Given the description of an element on the screen output the (x, y) to click on. 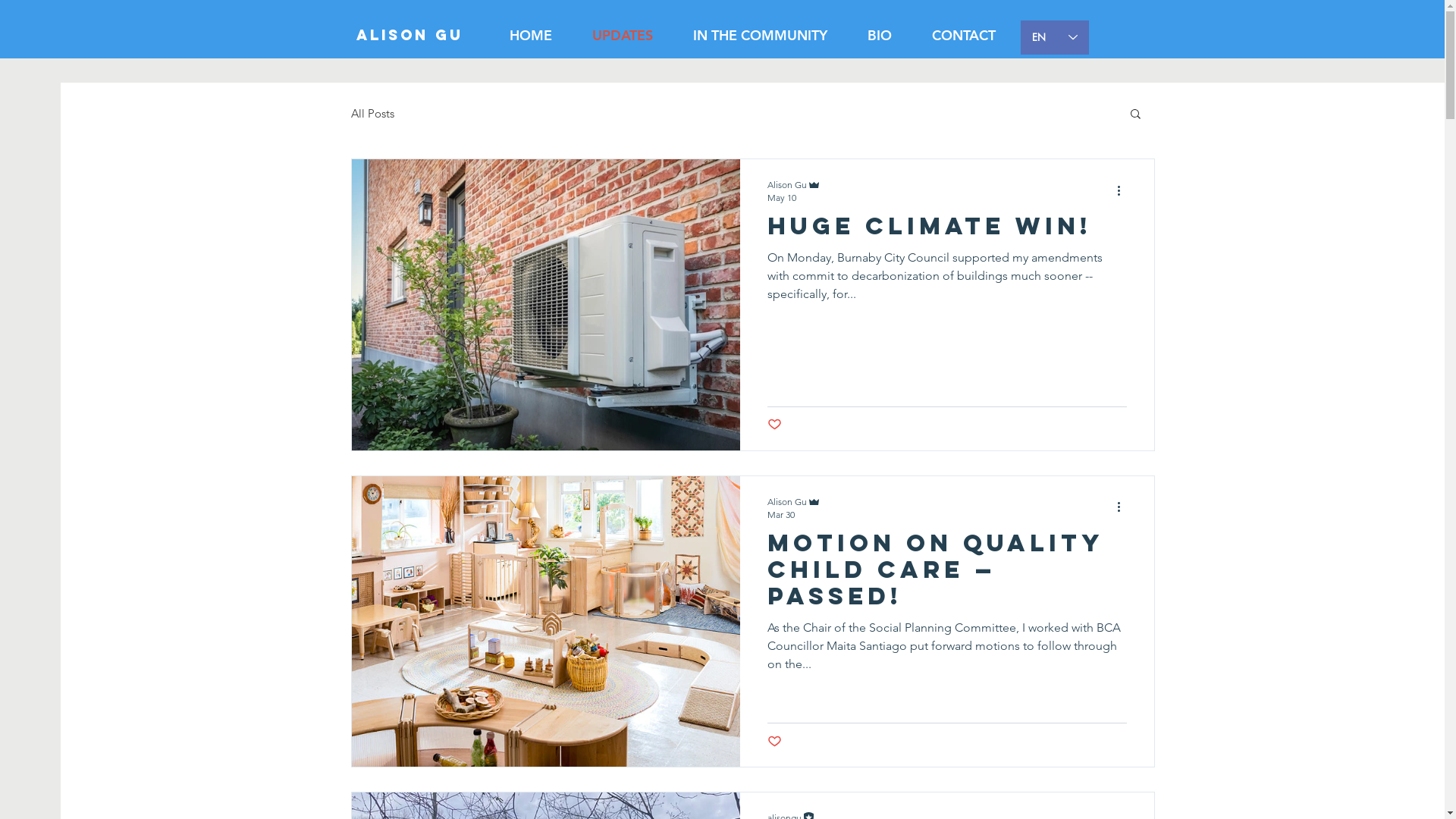
Post not marked as liked Element type: text (774, 425)
HOME Element type: text (530, 35)
Alison Gu Element type: text (424, 35)
UPDATES Element type: text (621, 35)
CONTACT Element type: text (963, 35)
BIO Element type: text (879, 35)
Huge climate win! Element type: text (946, 230)
All Posts Element type: text (371, 113)
Post not marked as liked Element type: text (774, 741)
IN THE COMMUNITY Element type: text (760, 35)
